Given the description of an element on the screen output the (x, y) to click on. 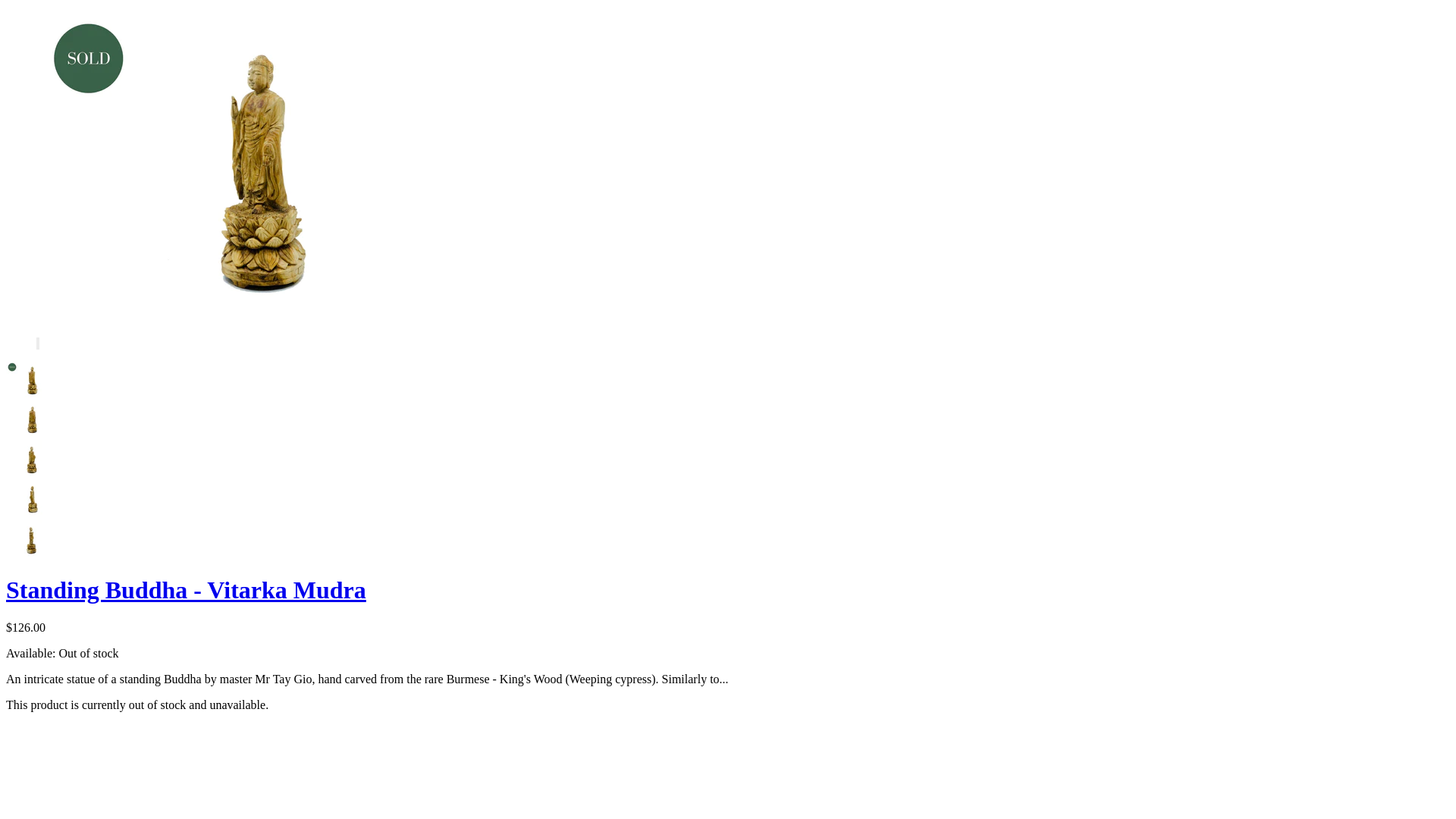
Standing Buddha - Vitarka Mudra Element type: text (186, 589)
